Given the description of an element on the screen output the (x, y) to click on. 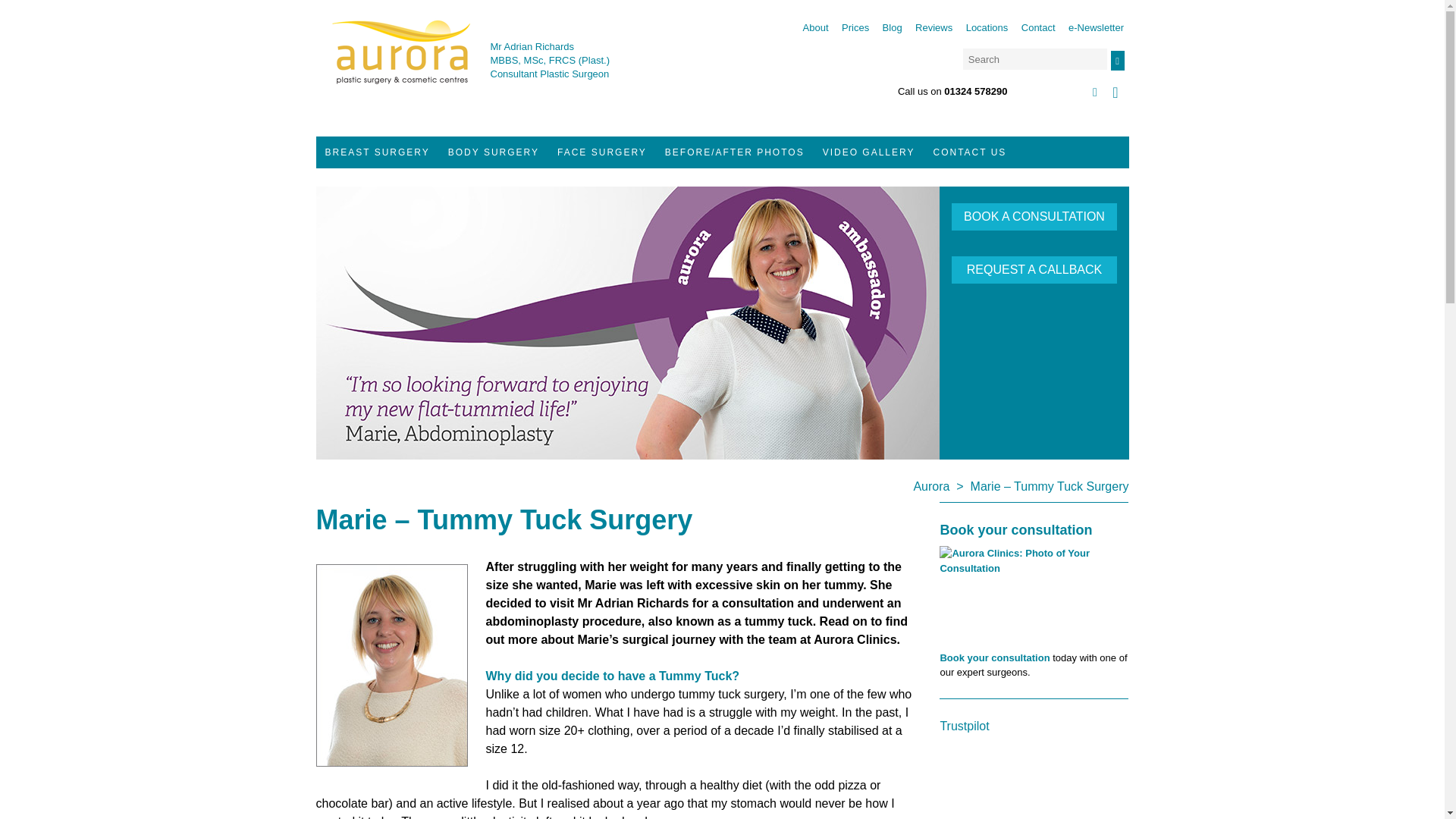
BOOK A CONSULTATION (1034, 216)
Aurora (930, 486)
REQUEST A CALLBACK (1034, 269)
CONTACT US (968, 152)
About (815, 27)
e-Newsletter (1096, 27)
BREAST SURGERY (376, 152)
Aurora Clinics (400, 62)
VIDEO GALLERY (868, 152)
Locations (987, 27)
FACE SURGERY (602, 152)
Contact (1038, 27)
Blog (892, 27)
Prices (855, 27)
Trustpilot (963, 725)
